Given the description of an element on the screen output the (x, y) to click on. 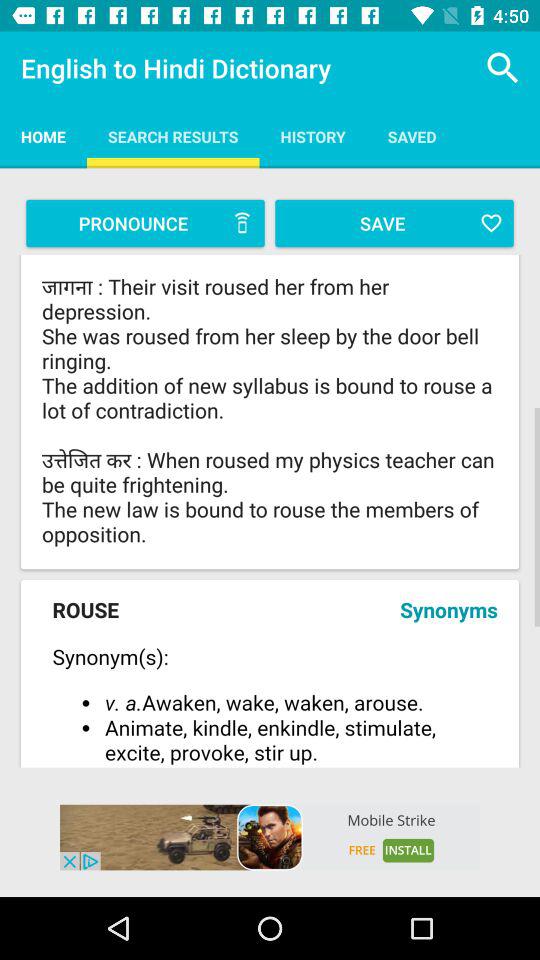
give advertisement information (270, 837)
